Given the description of an element on the screen output the (x, y) to click on. 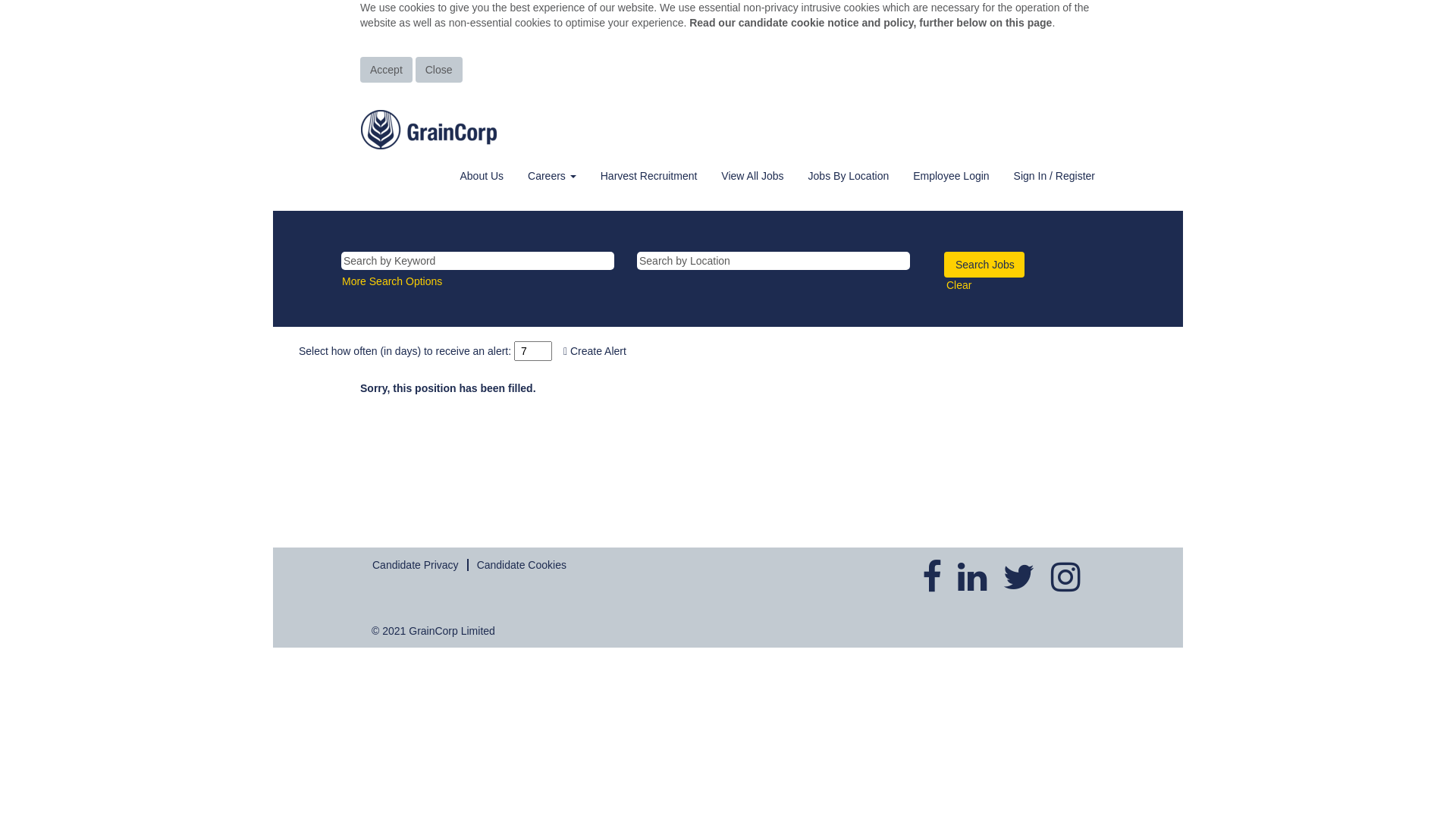
twitter Element type: hover (1018, 577)
About Us Element type: text (481, 174)
Sign In / Register Element type: text (1054, 174)
Harvest Recruitment Element type: text (648, 174)
Clear Element type: text (958, 284)
Accept Element type: text (386, 69)
Candidate Cookies Element type: text (521, 564)
Candidate Privacy Element type: text (415, 564)
linkedin Element type: hover (972, 577)
Search Jobs Element type: text (984, 264)
Close Element type: text (438, 69)
GrainCorp Careers Centre Home Element type: hover (428, 129)
Jobs By Location Element type: text (848, 174)
Careers Element type: text (552, 174)
More Search Options Element type: text (391, 281)
View All Jobs Element type: text (752, 174)
Employee Login Element type: text (950, 174)
instagram Element type: hover (1065, 577)
facebook Element type: hover (931, 577)
Create Alert Element type: text (594, 350)
